Given the description of an element on the screen output the (x, y) to click on. 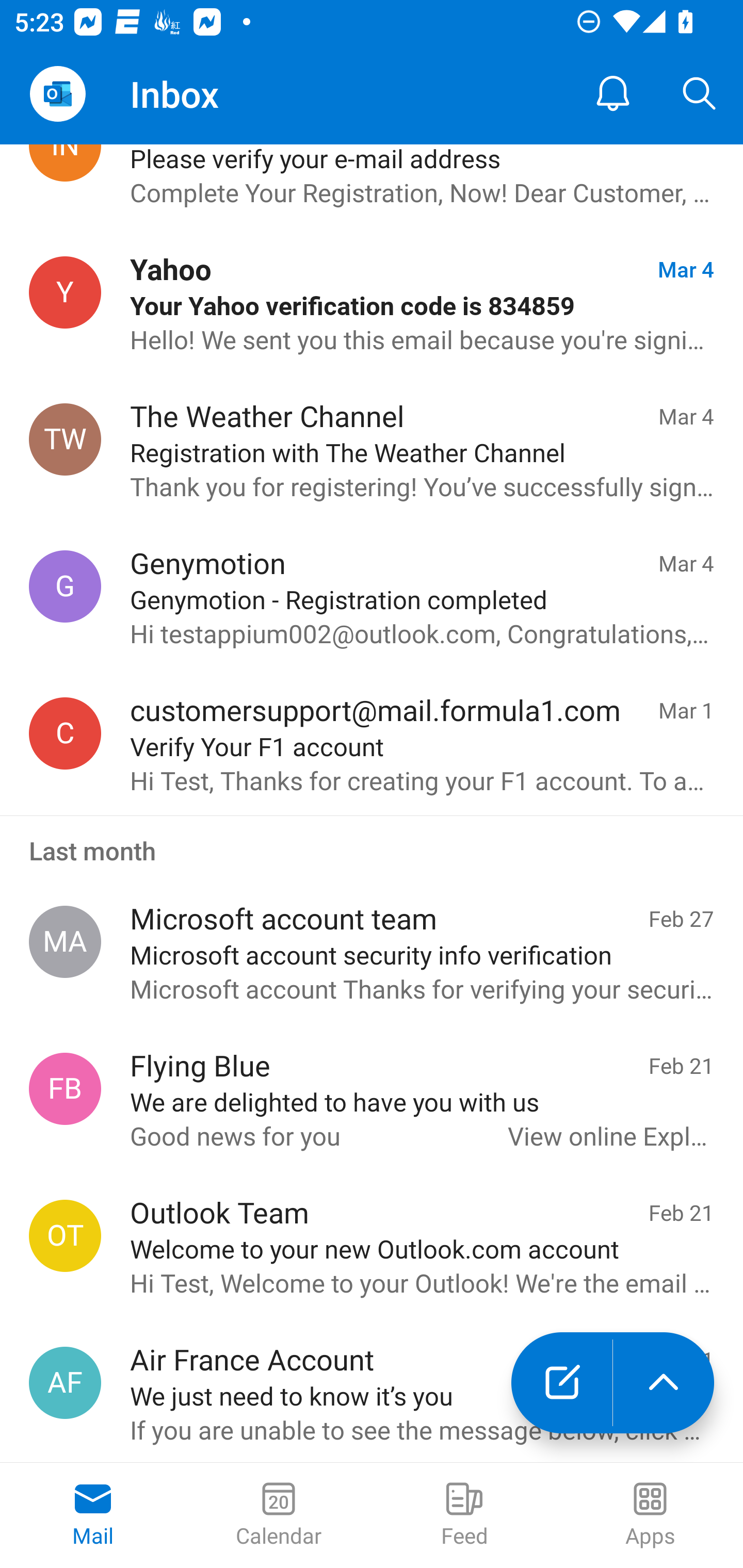
Notification Center (612, 93)
Search, ,  (699, 93)
Open Navigation Drawer (57, 94)
Yahoo, no-reply@cc.yahoo-inc.com (64, 292)
The Weather Channel, noreply@weather.com (64, 438)
Genymotion, genymotion-activation@genymobile.com (64, 586)
Flying Blue, do_not_reply@info-flyingblue.com (64, 1088)
Outlook Team, no-reply@microsoft.com (64, 1235)
New mail (561, 1382)
launch the extended action menu (663, 1382)
Air France Account, account@infos-airfrance.com (64, 1382)
Calendar (278, 1515)
Feed (464, 1515)
Apps (650, 1515)
